Given the description of an element on the screen output the (x, y) to click on. 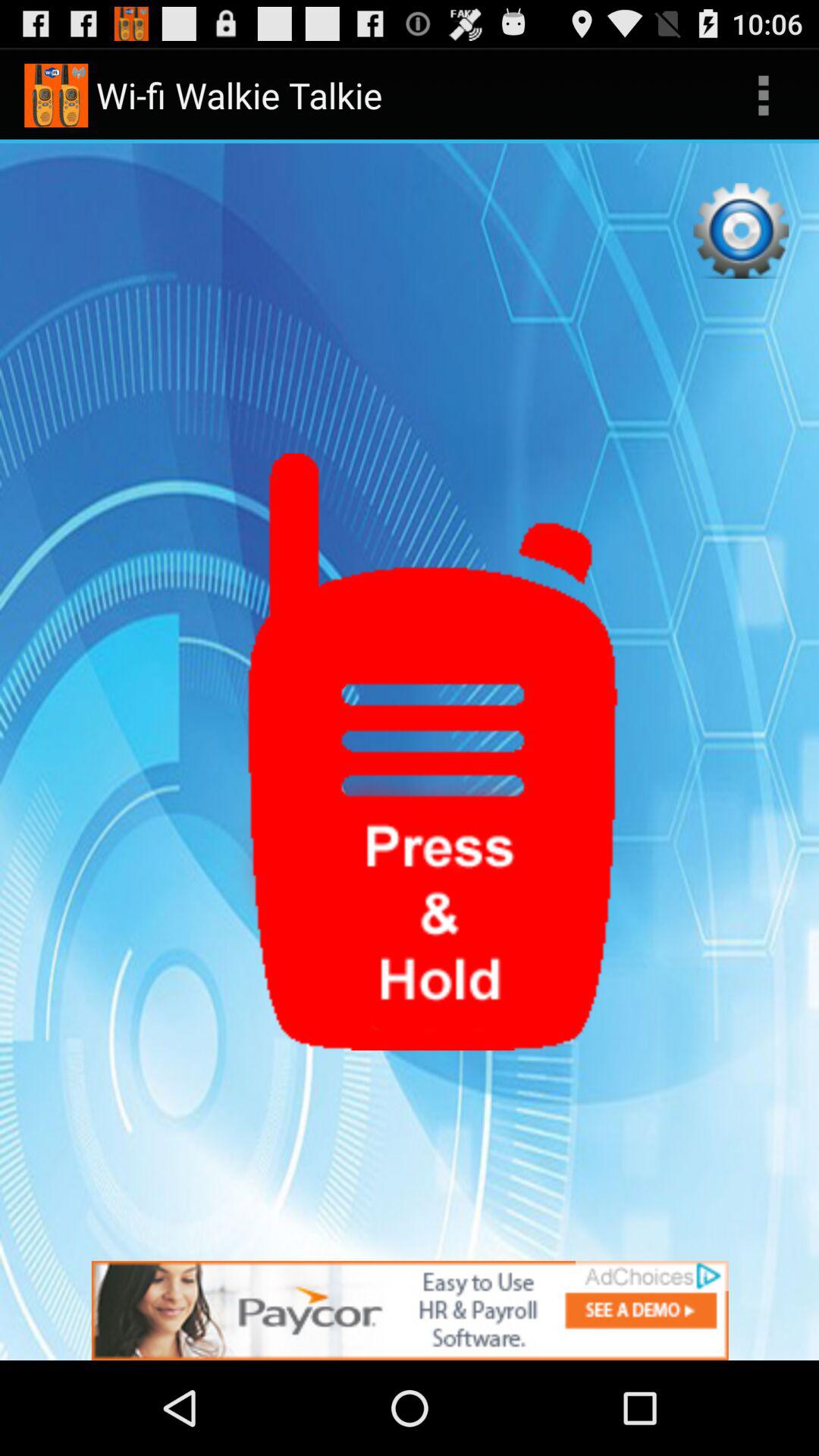
open parameter (740, 230)
